Given the description of an element on the screen output the (x, y) to click on. 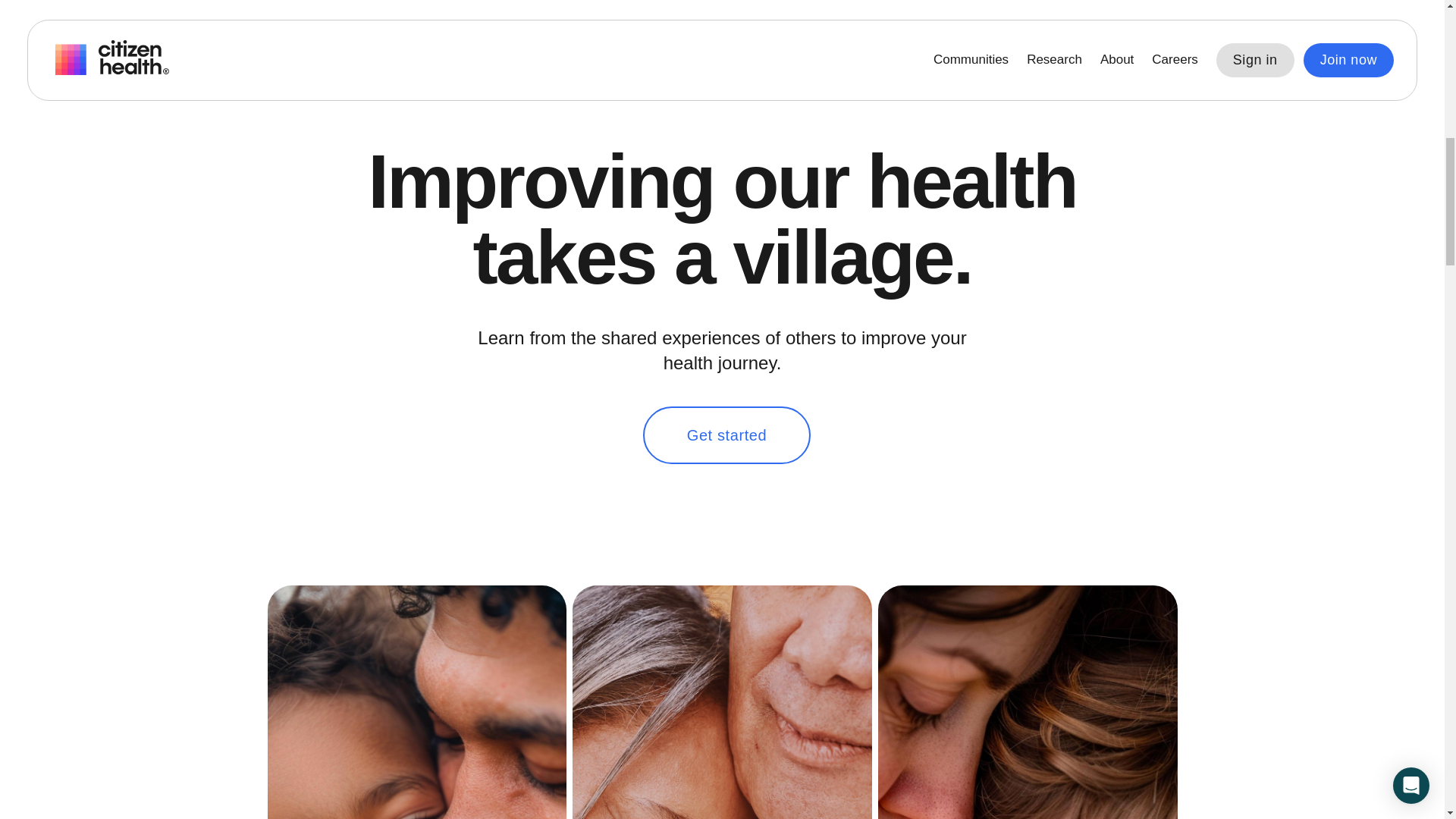
Get started (726, 435)
